Given the description of an element on the screen output the (x, y) to click on. 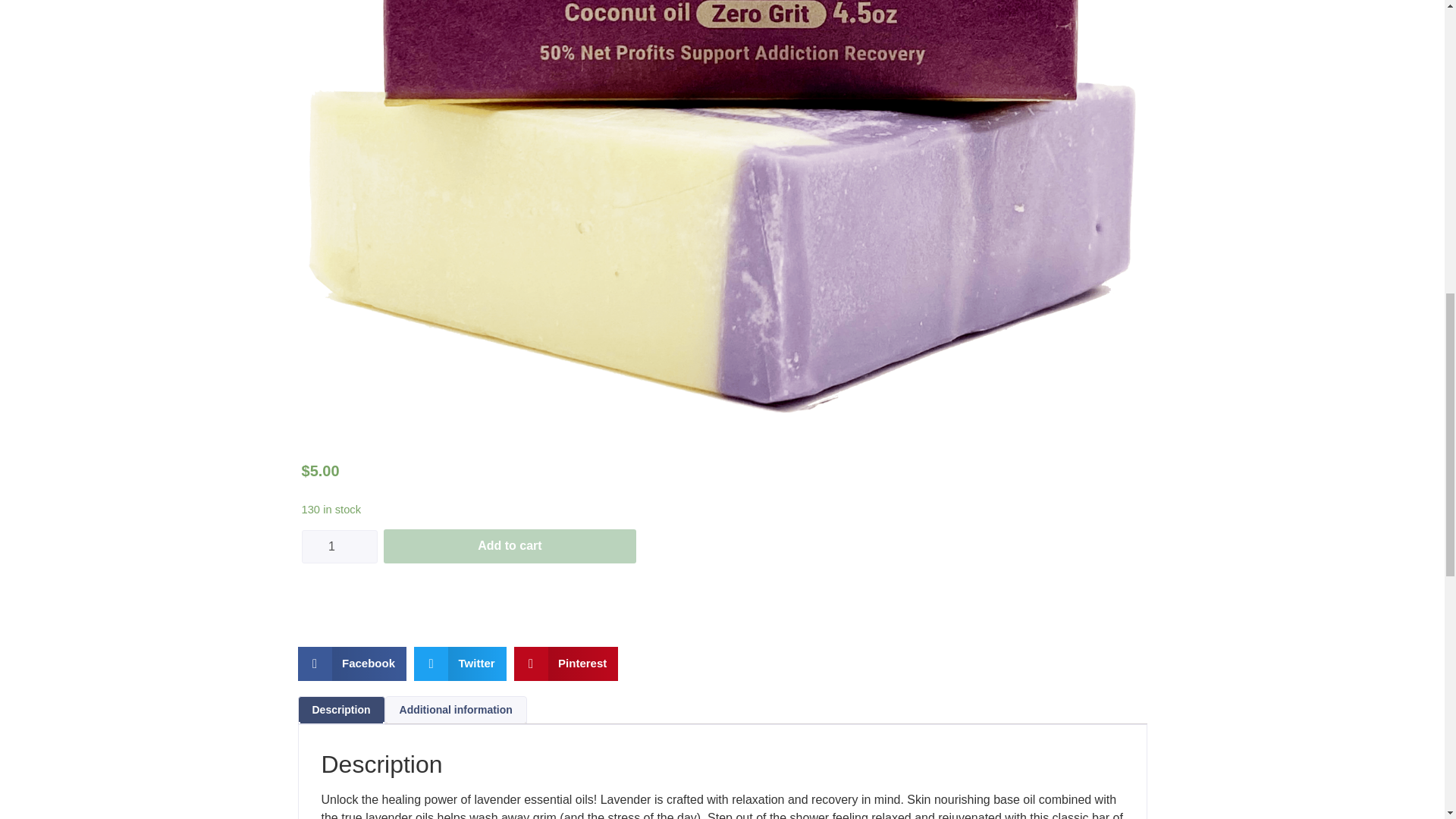
Qty (339, 546)
Additional information (455, 709)
Description (341, 709)
1 (339, 546)
Add to cart (510, 546)
